Given the description of an element on the screen output the (x, y) to click on. 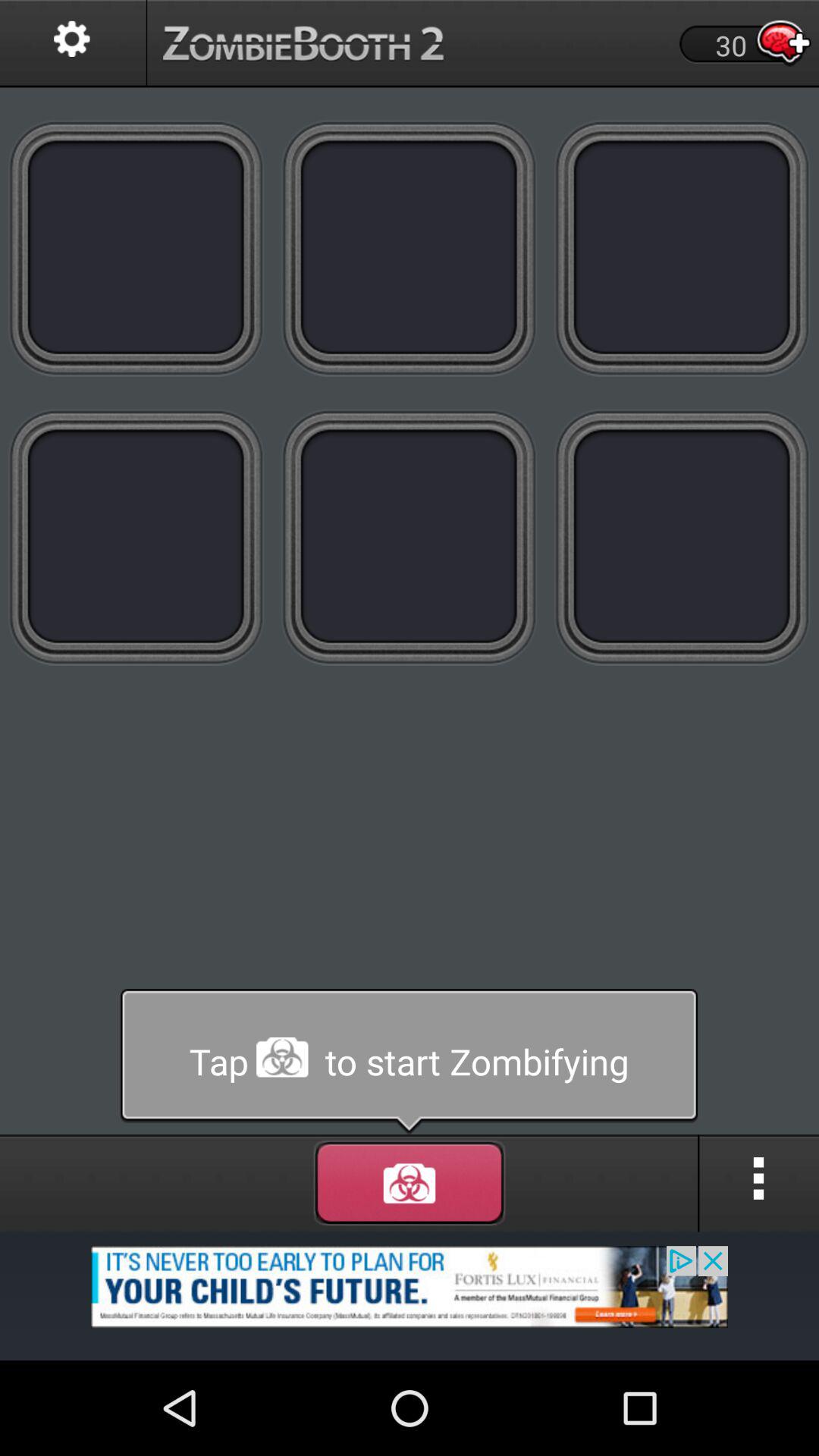
see picture (409, 247)
